Given the description of an element on the screen output the (x, y) to click on. 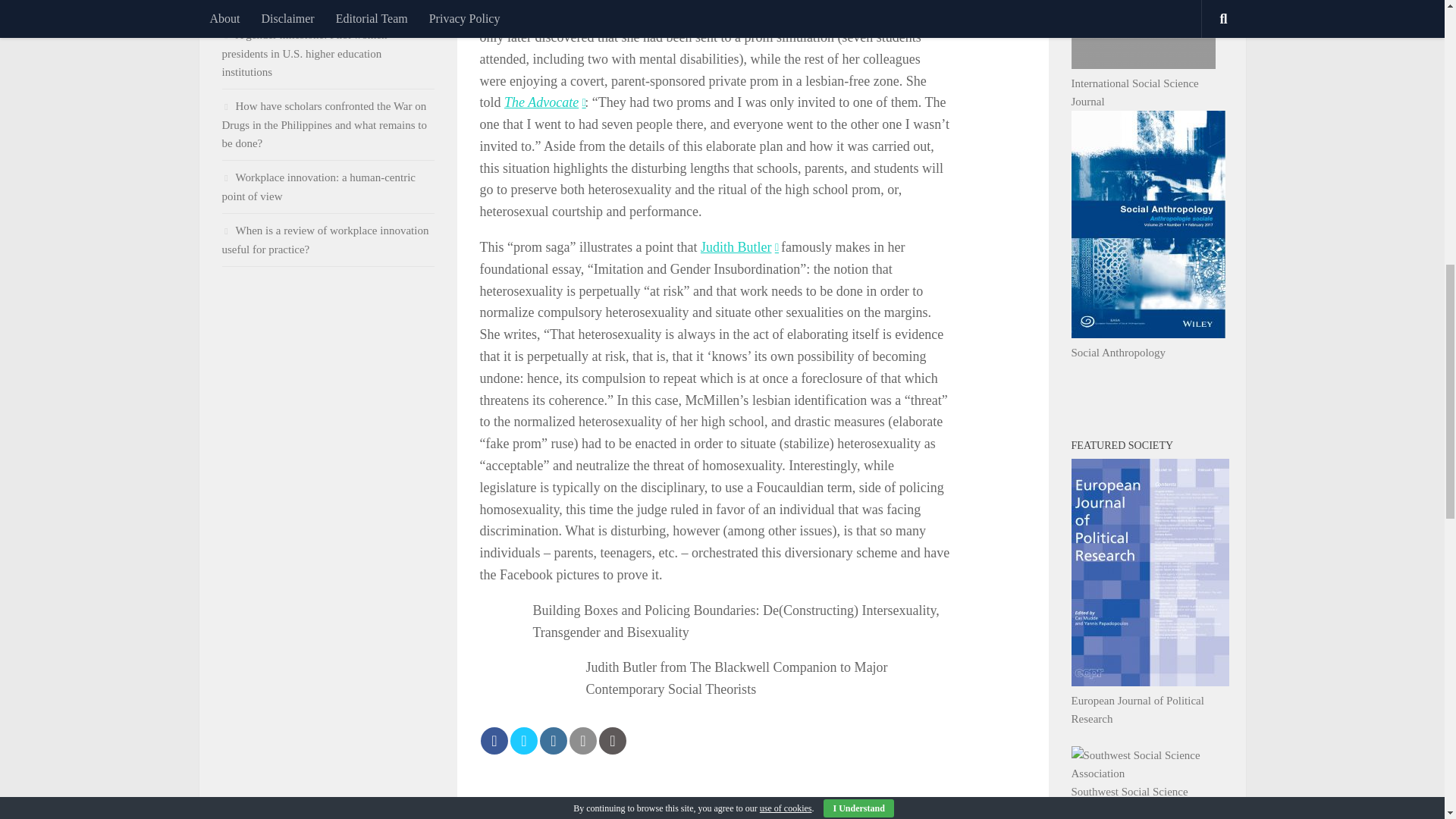
square-eye (551, 689)
Share on Facebook (494, 740)
Share on LinkedIn (553, 740)
Share on Twitter (524, 740)
square-eye (497, 632)
